Given the description of an element on the screen output the (x, y) to click on. 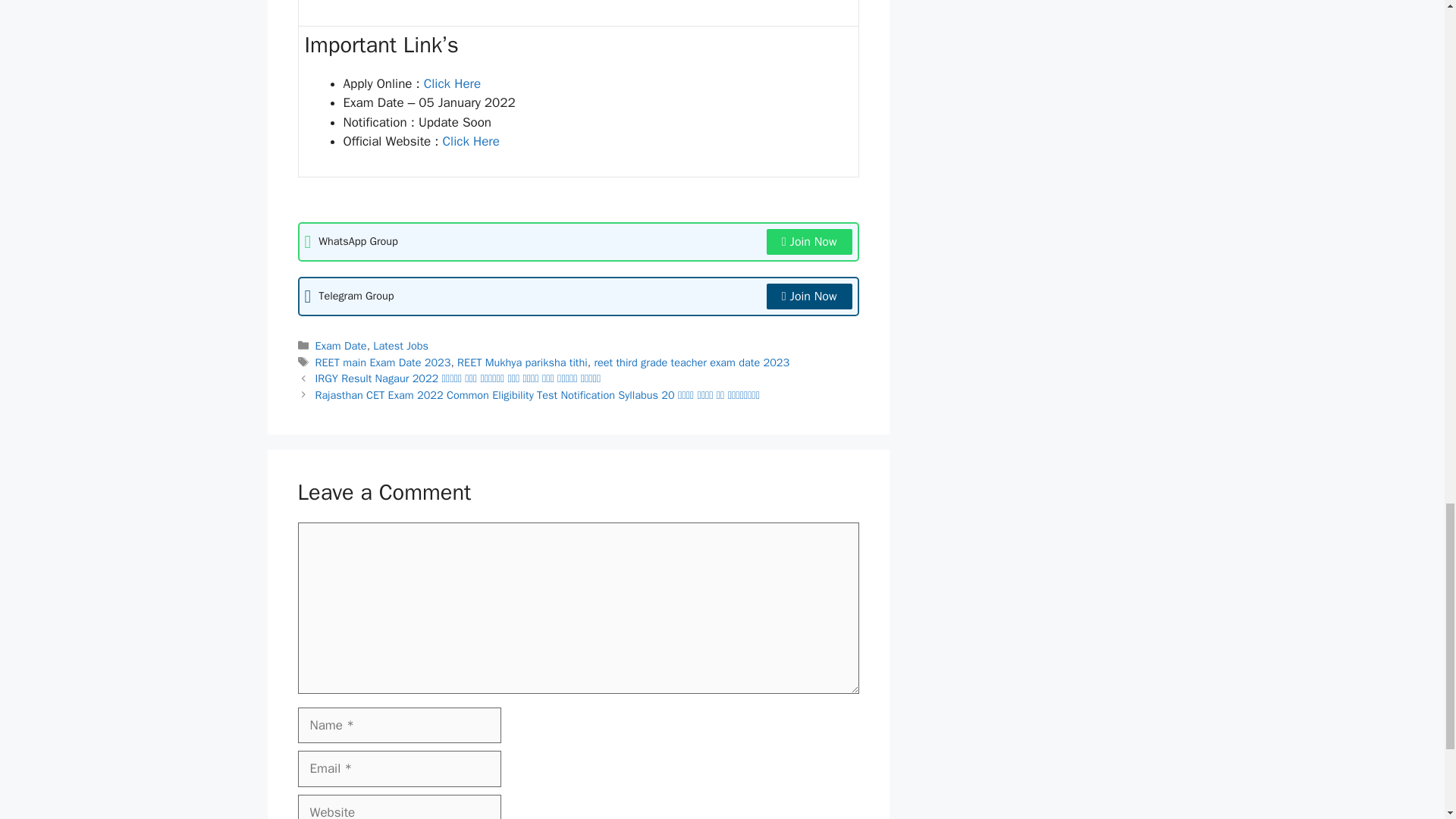
Click Here (451, 83)
Latest Jobs (400, 345)
Exam Date (340, 345)
REET main Exam Date 2023 (383, 362)
Join Now (809, 296)
REET Mukhya pariksha tithi (522, 362)
Join Now (809, 241)
reet third grade teacher exam date 2023 (691, 362)
Click Here (468, 141)
